Given the description of an element on the screen output the (x, y) to click on. 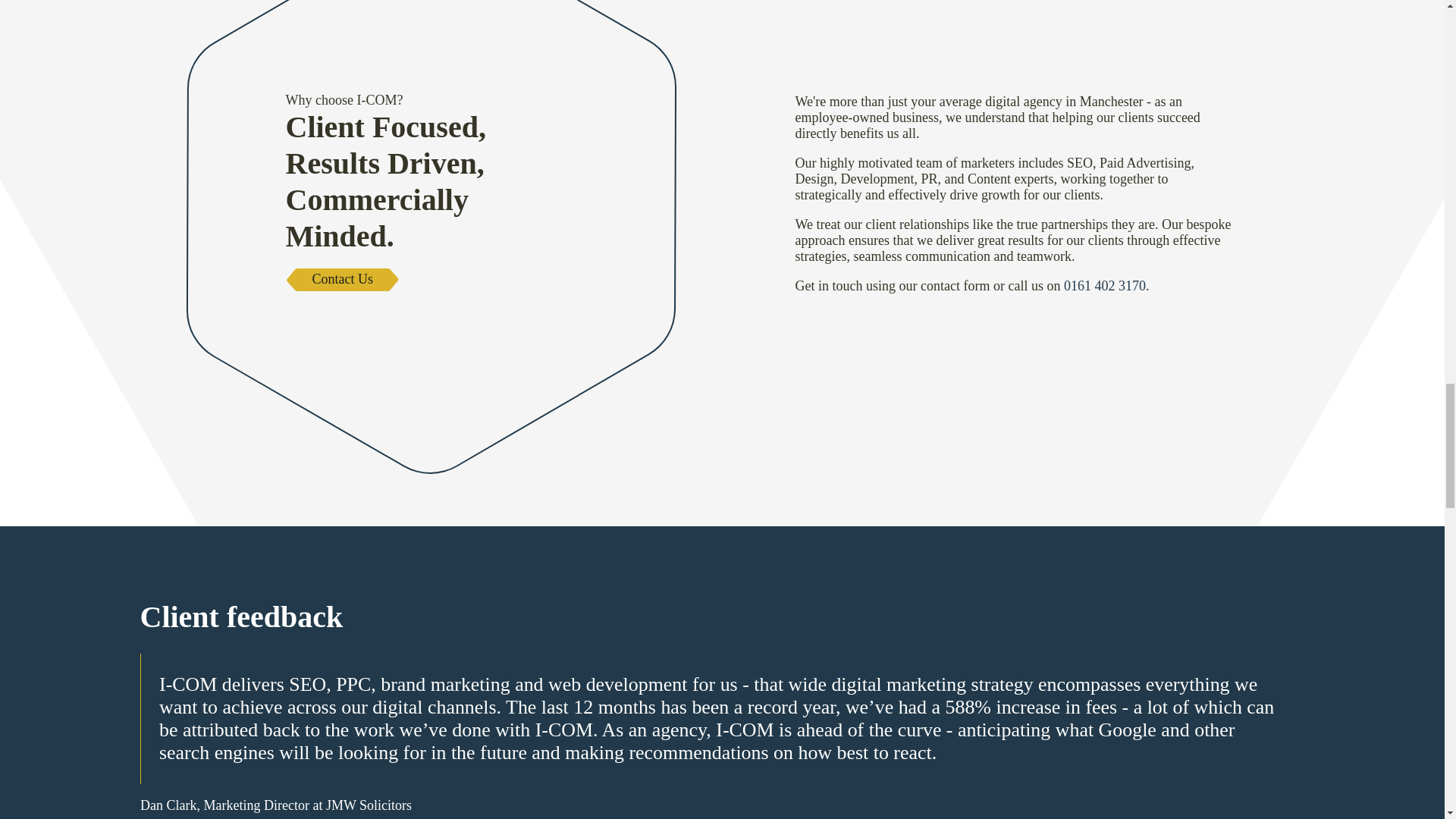
Contact Us (342, 279)
0161 402 3170 (1104, 285)
